Given the description of an element on the screen output the (x, y) to click on. 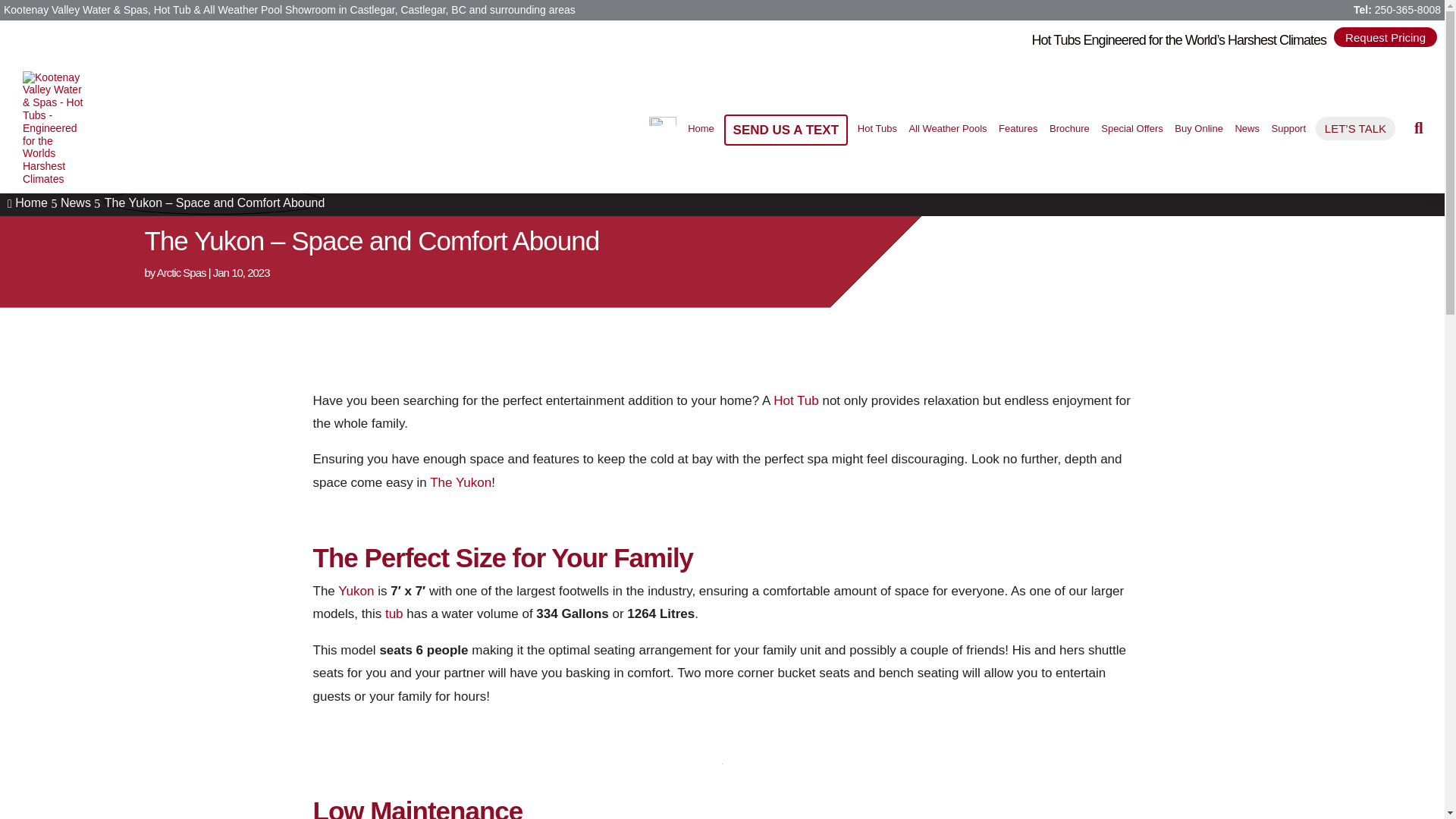
Special Offers (1132, 128)
Choose Your Location (663, 118)
Home (700, 128)
The Yukon - Space and Comfort Abound (721, 180)
Features (1018, 128)
Choose Your Location (662, 128)
SEND US A TEXT (785, 129)
Return to the home page (700, 128)
Hot Tubs (877, 128)
Request Pricing (1385, 36)
buy artic spas hot tub parts online (1198, 128)
Brochure (1069, 128)
Support (1287, 128)
News (1246, 128)
